Given the description of an element on the screen output the (x, y) to click on. 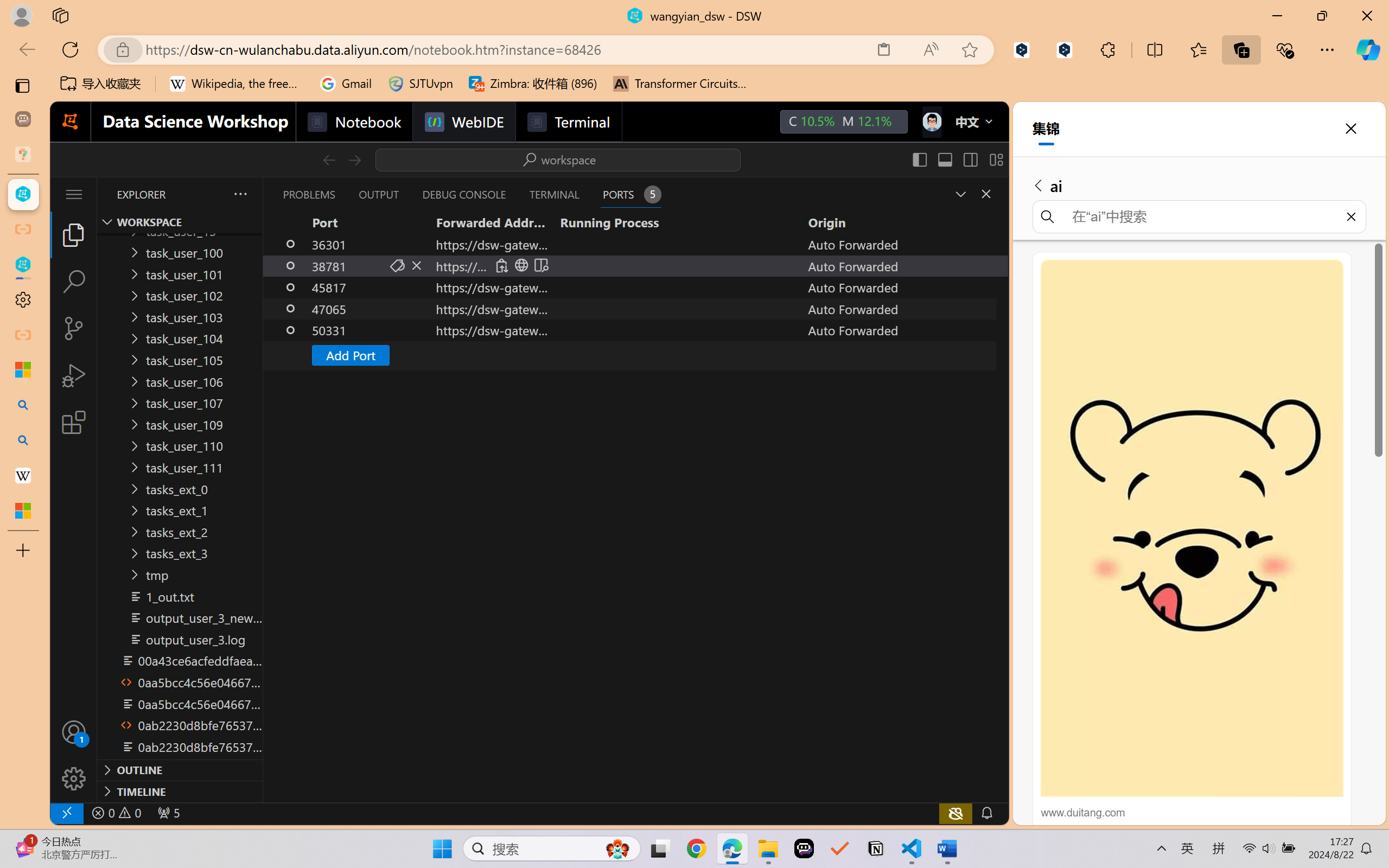
Accounts - Sign in requested (73, 732)
Toggle Panel (Ctrl+J) (944, 159)
Add Port (635, 355)
Go Forward (Alt+RightArrow) (354, 159)
remote (66, 812)
Timeline Section (179, 791)
Search (Ctrl+Shift+F) (73, 281)
Open in Browser (520, 265)
Class: next-menu next-hoz widgets--iconMenu--BFkiHRM (930, 121)
Source Control (Ctrl+Shift+G) (73, 328)
Set Port Label (F2) (396, 265)
